Given the description of an element on the screen output the (x, y) to click on. 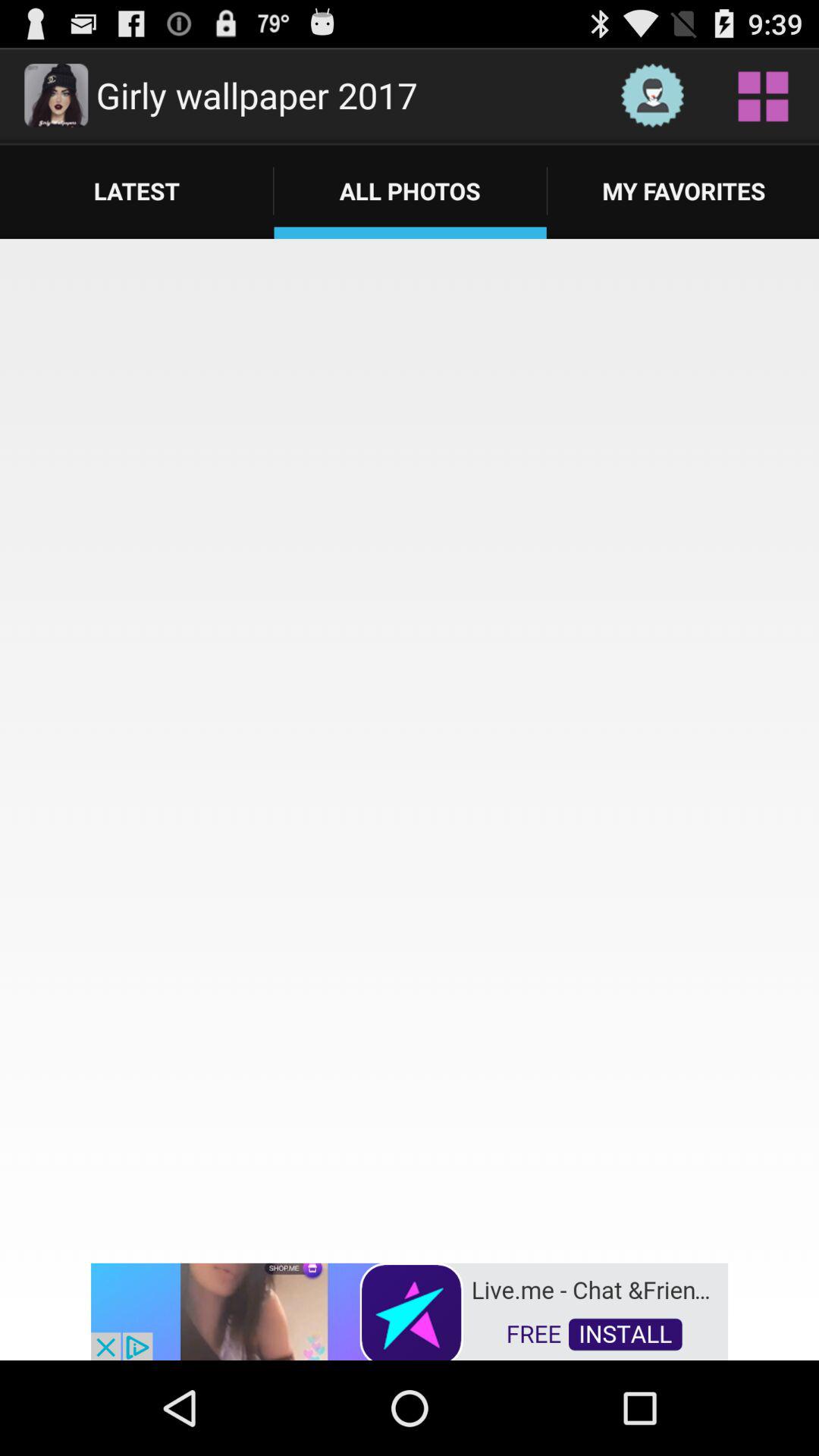
go to all (763, 95)
